Given the description of an element on the screen output the (x, y) to click on. 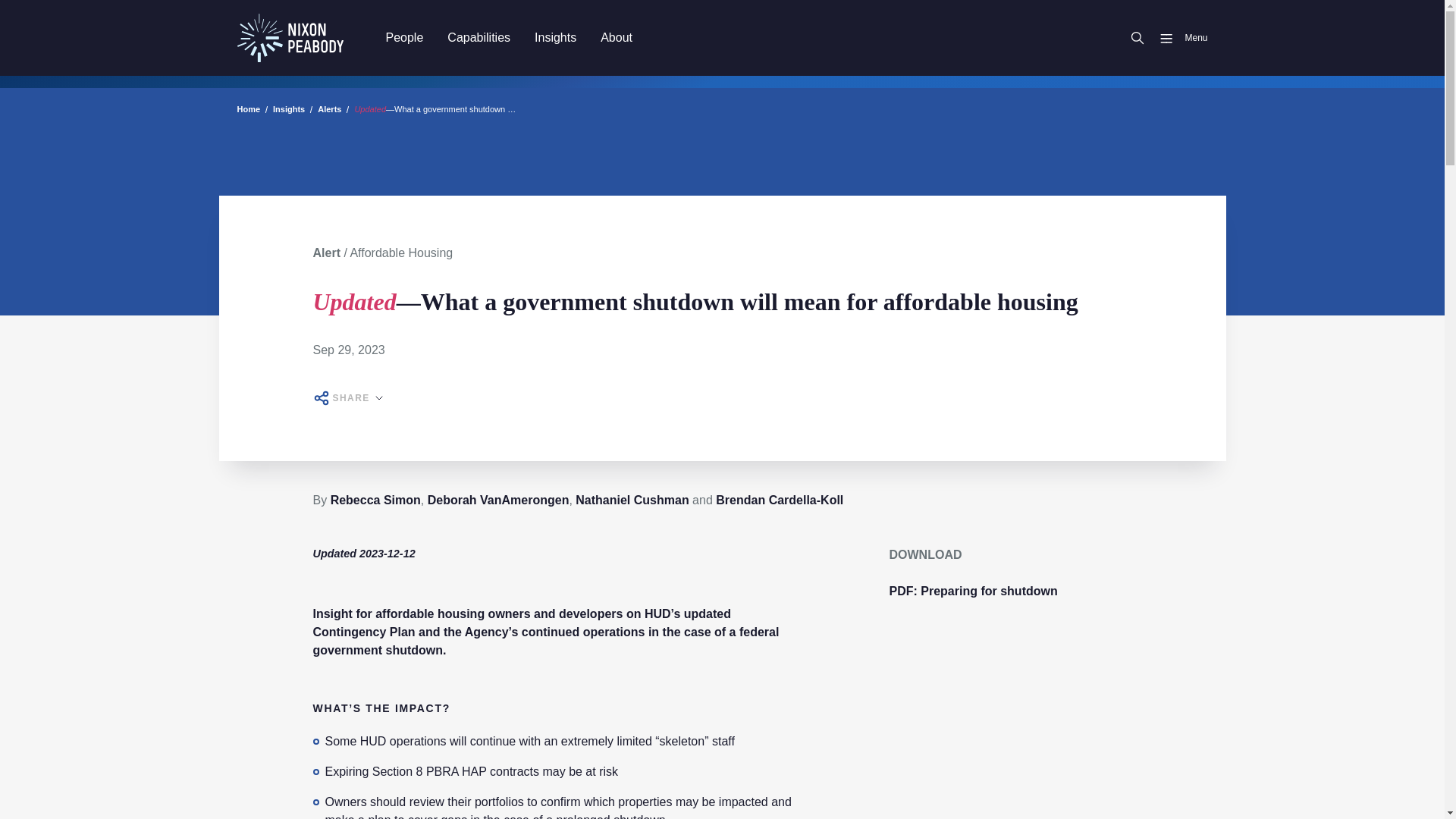
About (616, 37)
People (403, 37)
Capabilities (478, 37)
Menu (1177, 37)
Insights (555, 37)
